Given the description of an element on the screen output the (x, y) to click on. 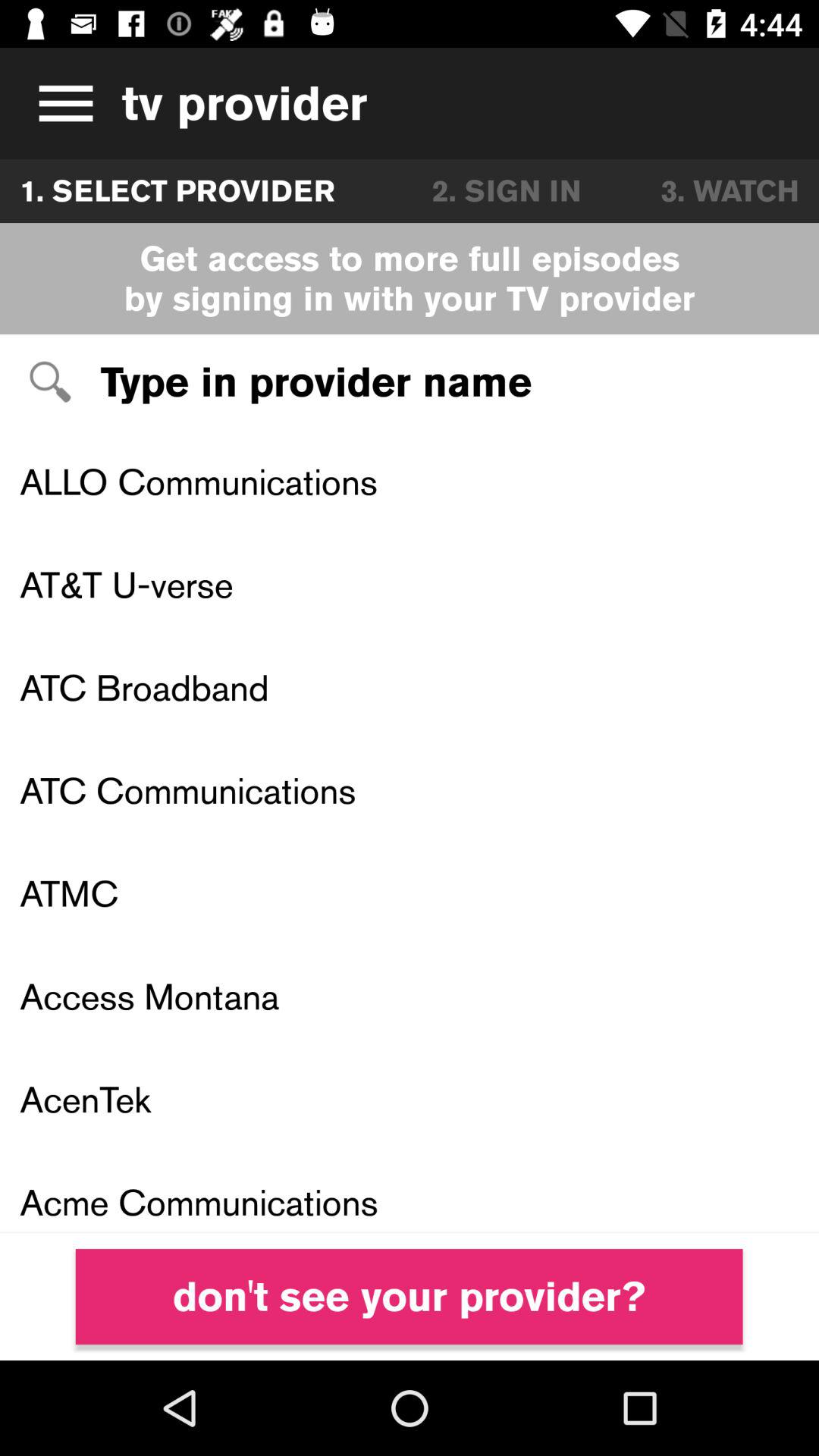
press item below at t u item (409, 687)
